Given the description of an element on the screen output the (x, y) to click on. 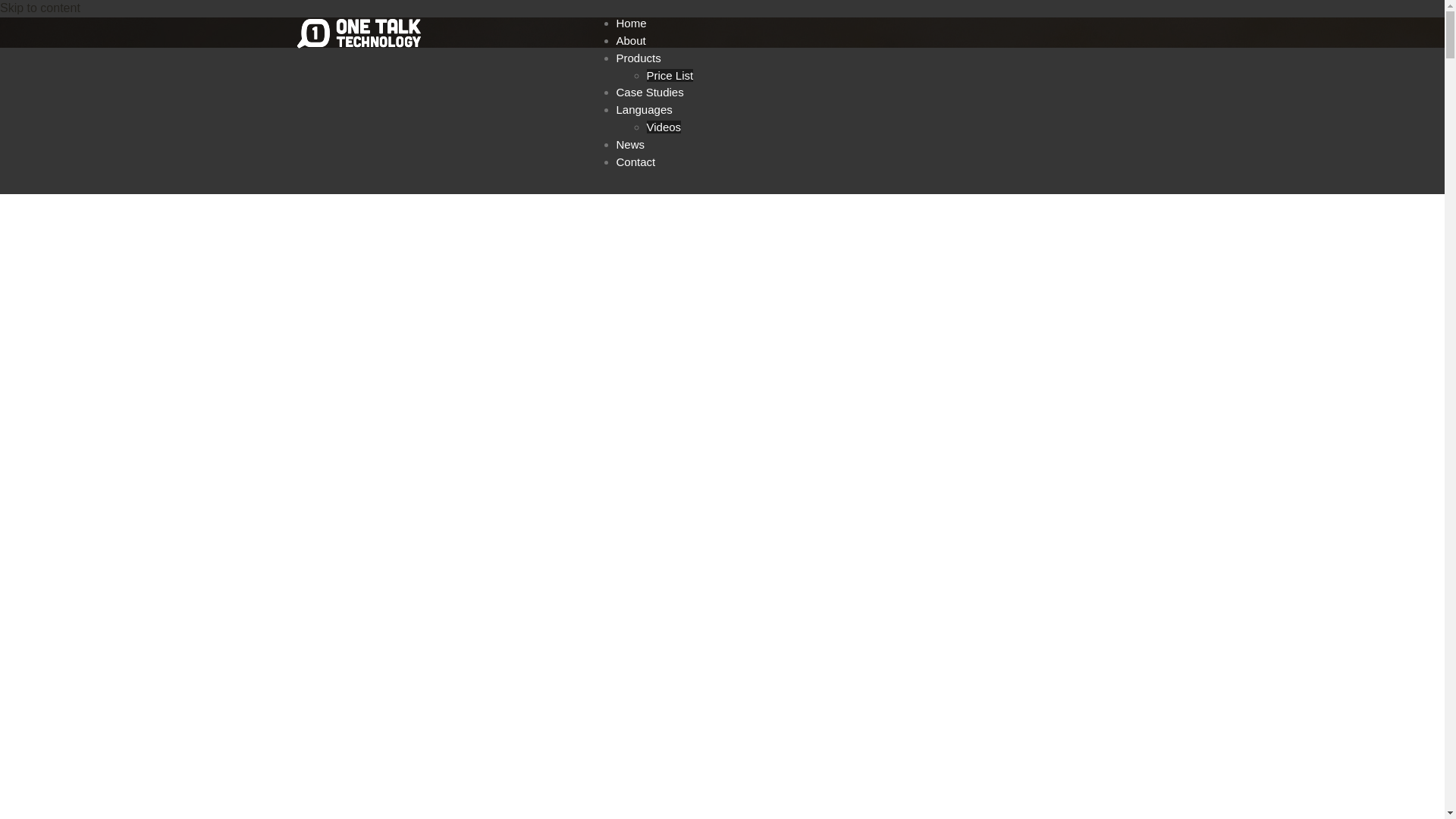
News Element type: text (629, 144)
Skip to content Element type: text (40, 7)
OneTalk Technology Element type: hover (361, 32)
Home Element type: text (630, 22)
Contact Element type: text (635, 161)
Languages Element type: text (643, 109)
Videos Element type: text (663, 126)
Case Studies Element type: text (649, 91)
Price List Element type: text (669, 75)
Products Element type: text (637, 57)
About Element type: text (630, 40)
